Given the description of an element on the screen output the (x, y) to click on. 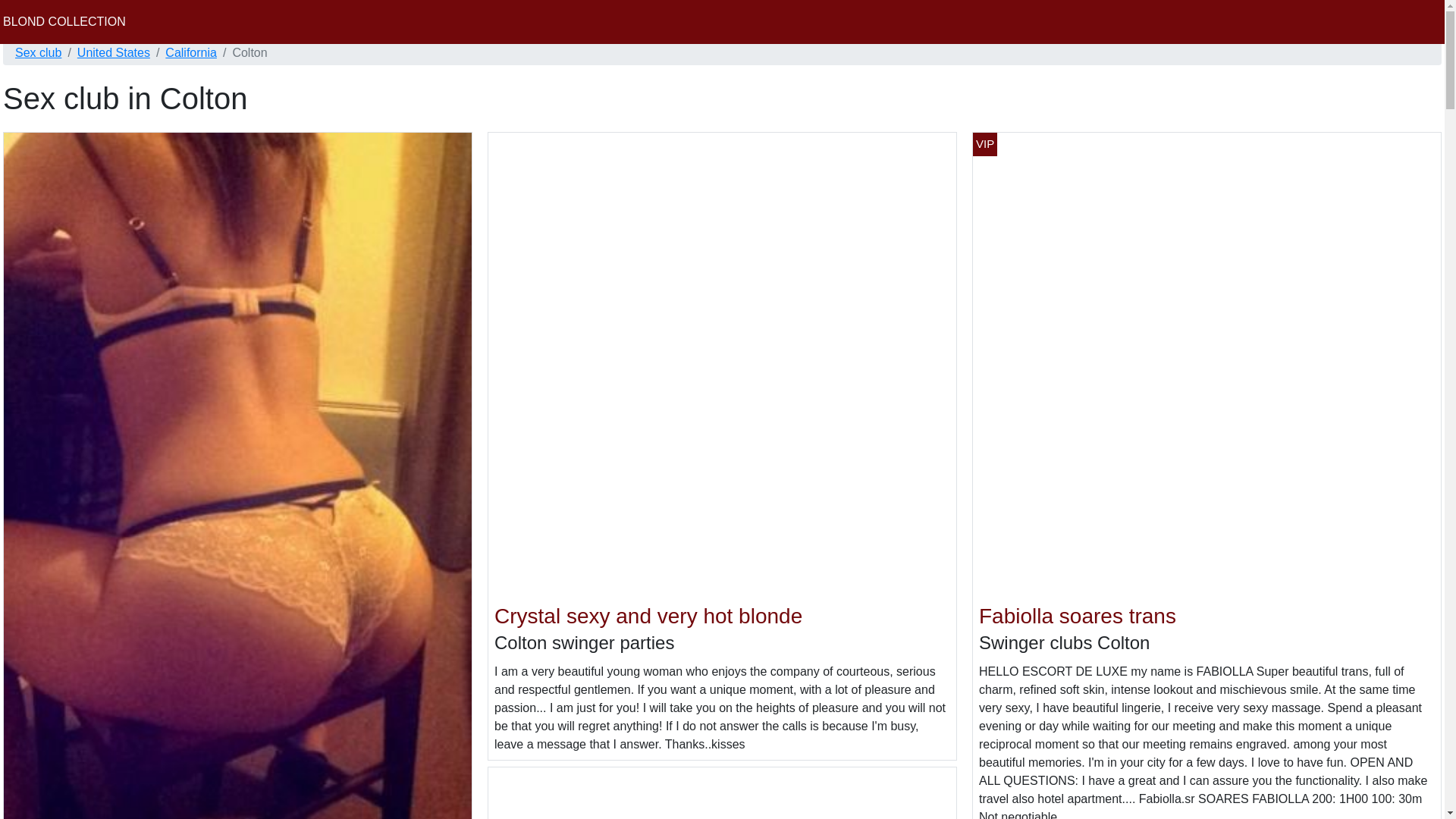
BLOND COLLECTION (63, 21)
Crystal sexy and very hot blonde (648, 616)
Sex club (37, 53)
California (190, 53)
Fabiolla soares trans (1077, 616)
United States (113, 53)
